Given the description of an element on the screen output the (x, y) to click on. 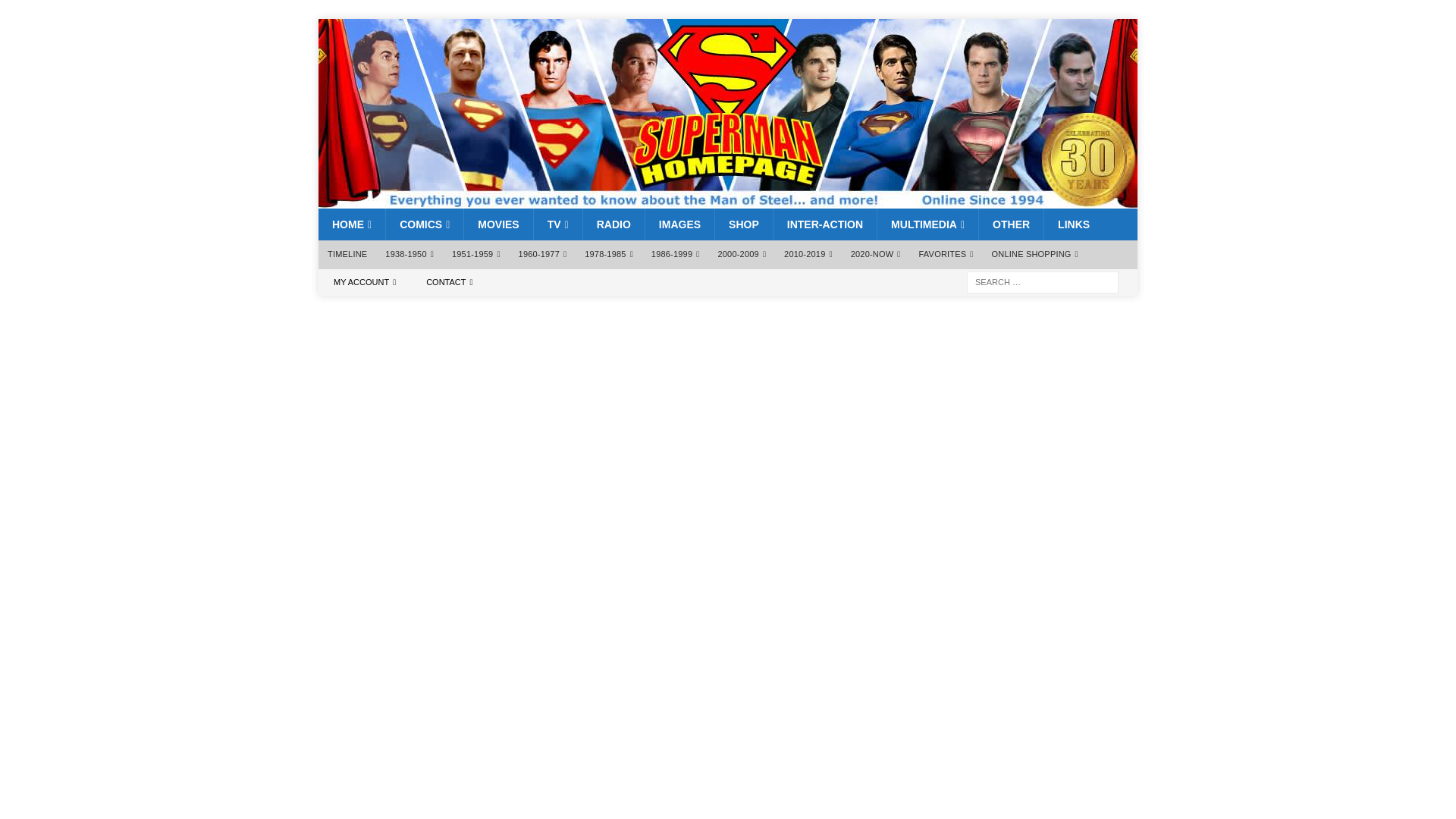
OTHER (1010, 224)
1978-1985 (608, 254)
Superman Homepage (727, 200)
RADIO (613, 224)
TIMELINE (346, 254)
1986-1999 (675, 254)
1951-1959 (475, 254)
COMICS (424, 224)
INTER-ACTION (824, 224)
HOME (351, 224)
